Given the description of an element on the screen output the (x, y) to click on. 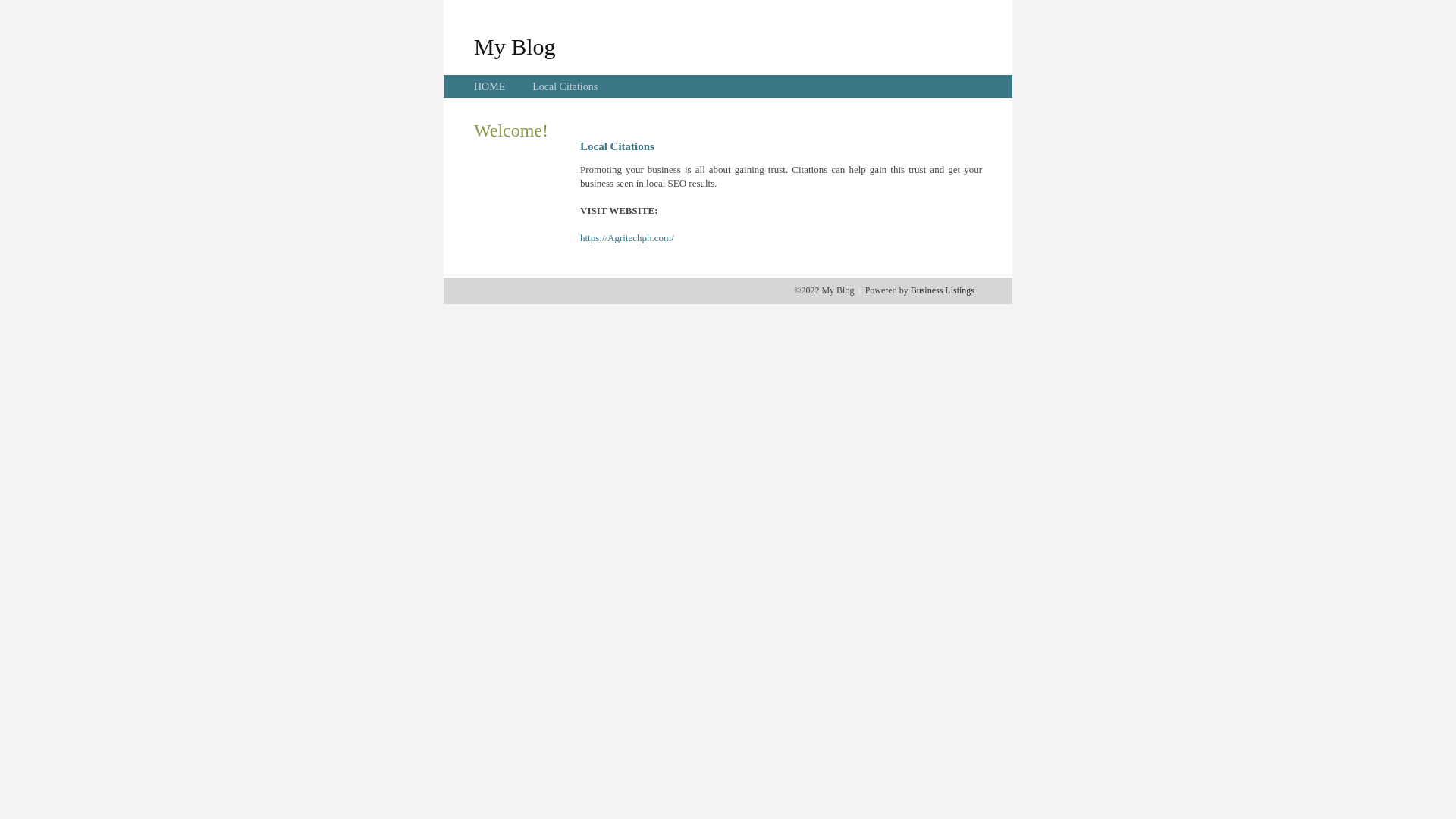
Local Citations Element type: text (564, 86)
My Blog Element type: text (514, 46)
https://Agritechph.com/ Element type: text (627, 237)
Business Listings Element type: text (942, 290)
HOME Element type: text (489, 86)
